Given the description of an element on the screen output the (x, y) to click on. 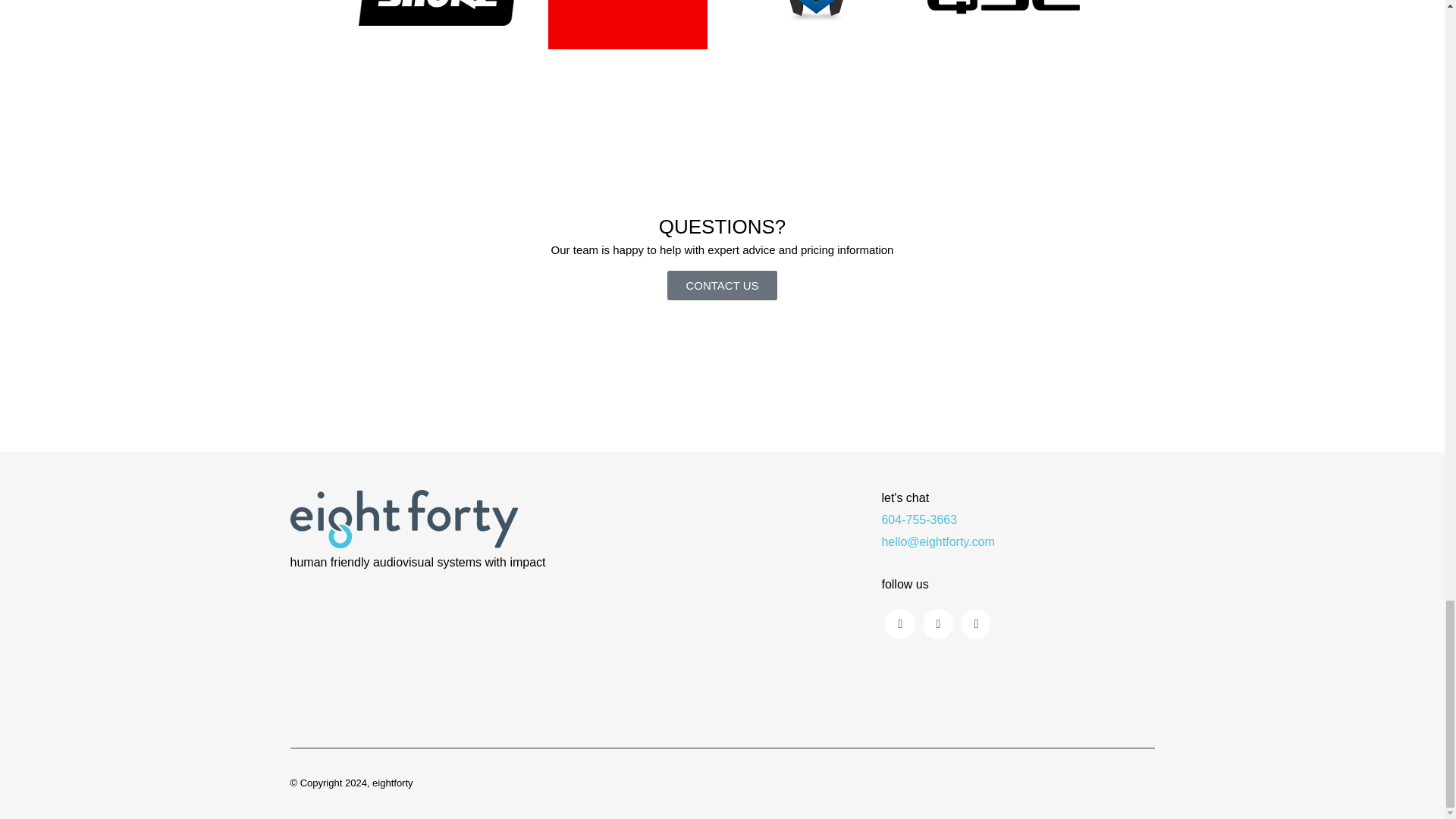
LinkedIn (975, 624)
Facebook (938, 624)
604-755-3663 (918, 519)
CONTACT US (721, 285)
Instagram (900, 624)
